Given the description of an element on the screen output the (x, y) to click on. 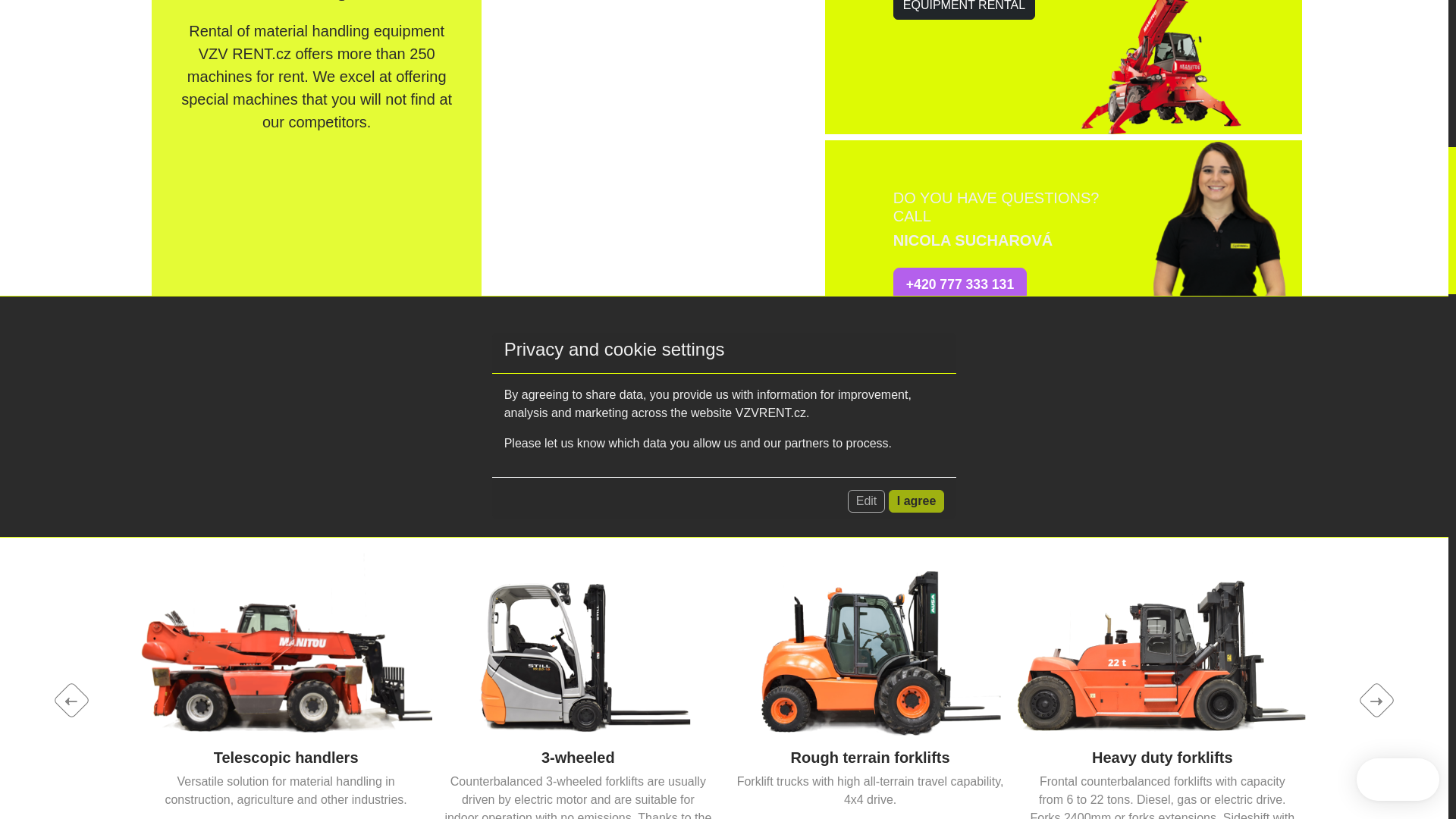
Telescopic handlers (284, 639)
3-wheeled (577, 639)
Rough terrain forklifts (869, 639)
Heavy duty forklifts (1161, 639)
